Given the description of an element on the screen output the (x, y) to click on. 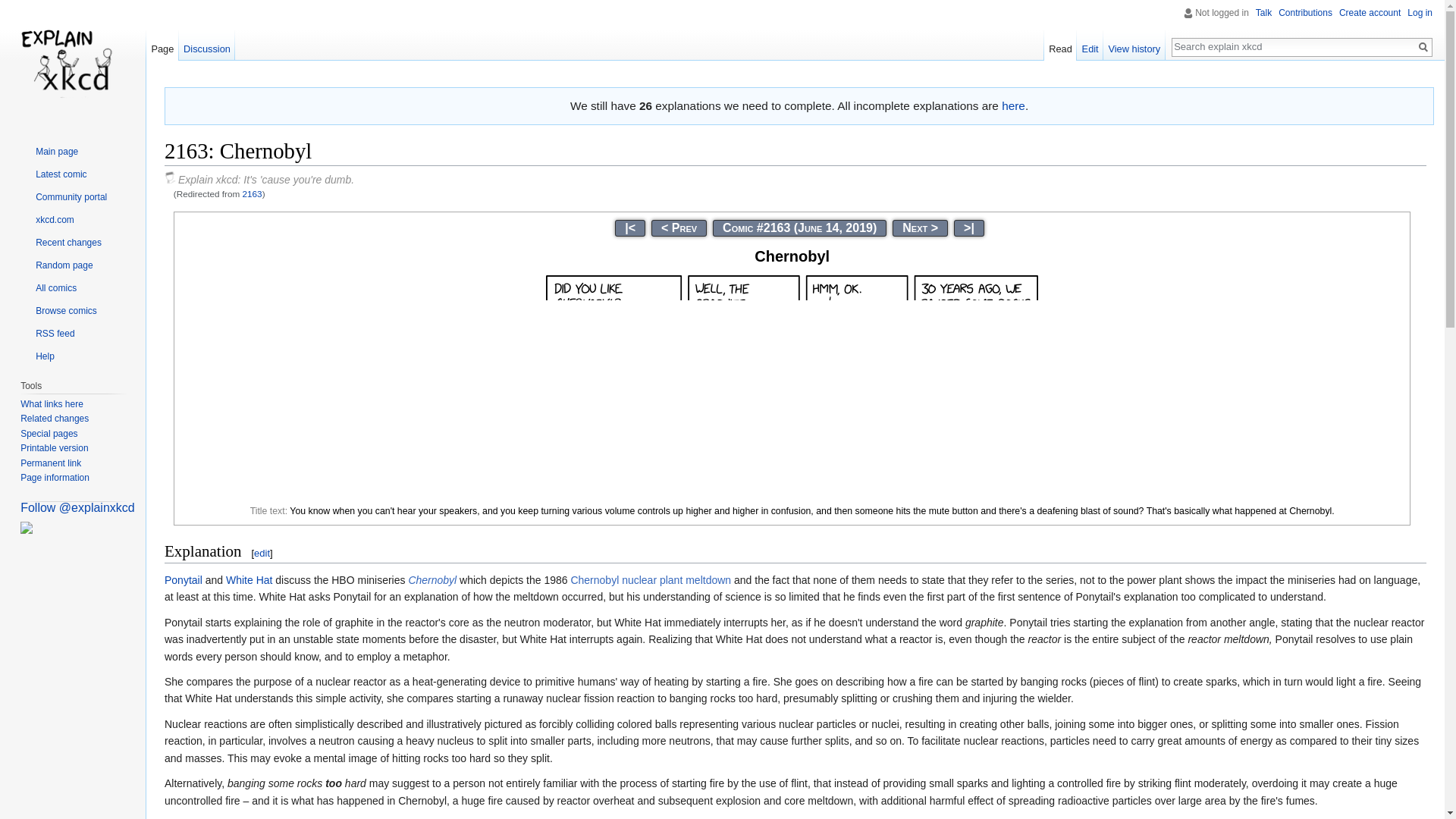
2164 (920, 227)
Search (1423, 46)
Go (1423, 46)
Search (1423, 46)
wikipedia:Chernobyl disaster (650, 580)
Category:Incomplete explanations (1013, 105)
edit (261, 552)
Ponytail (183, 580)
2163 (252, 194)
2162 (679, 227)
Chernobyl (432, 580)
2163 (252, 194)
here (1013, 105)
Ponytail (183, 580)
